Given the description of an element on the screen output the (x, y) to click on. 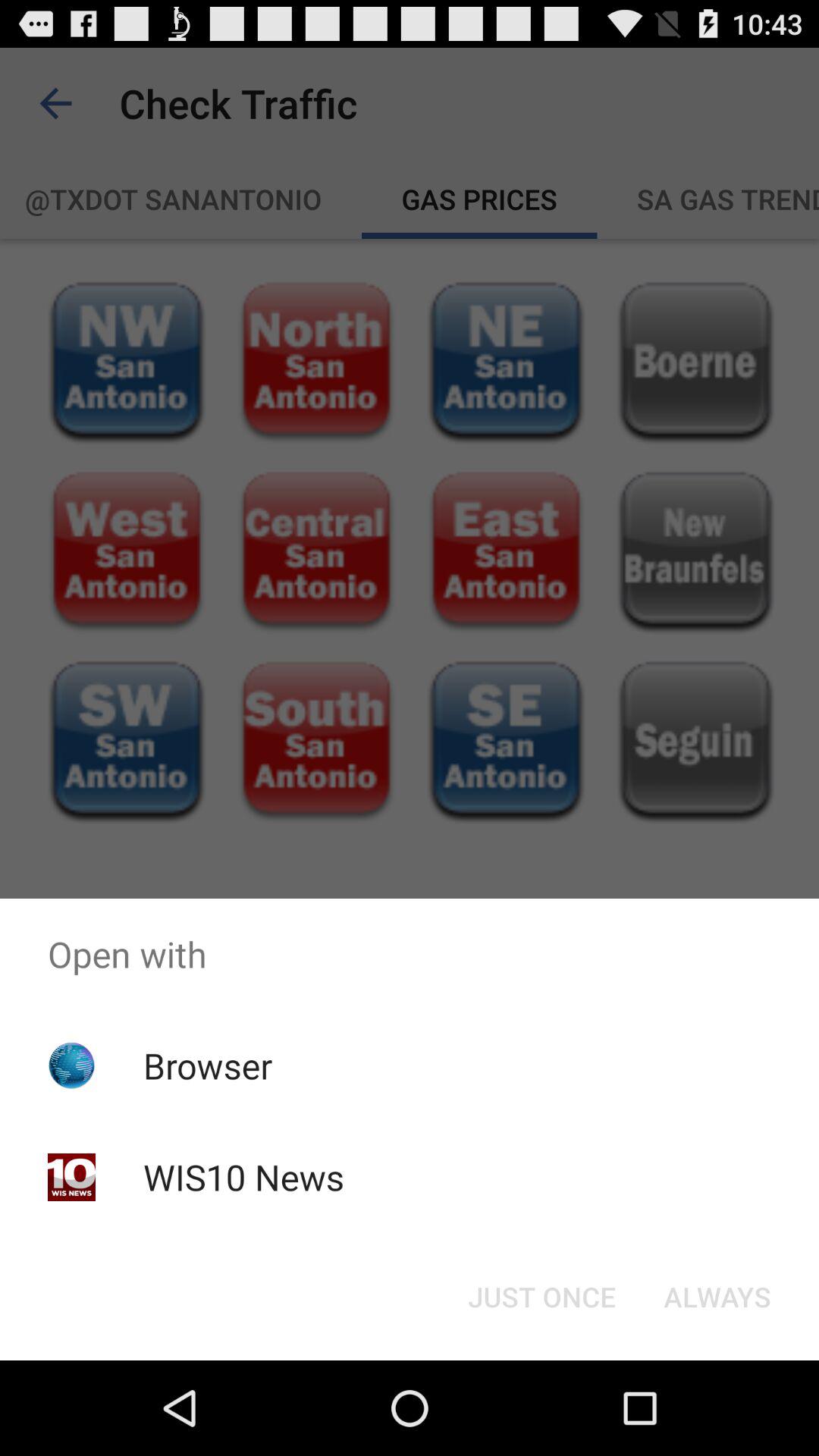
launch app below the browser app (243, 1176)
